Given the description of an element on the screen output the (x, y) to click on. 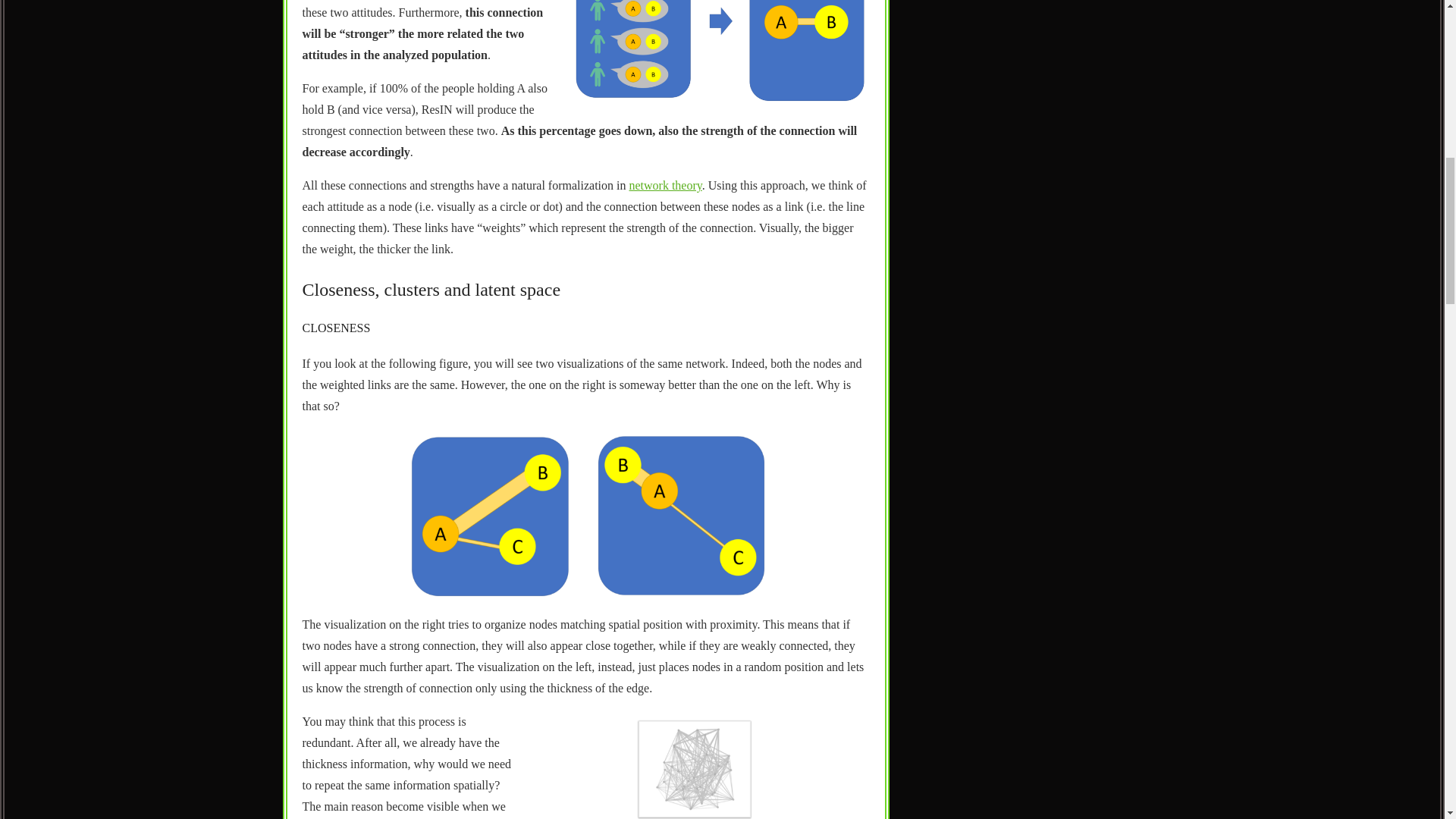
network theory (664, 185)
